Given the description of an element on the screen output the (x, y) to click on. 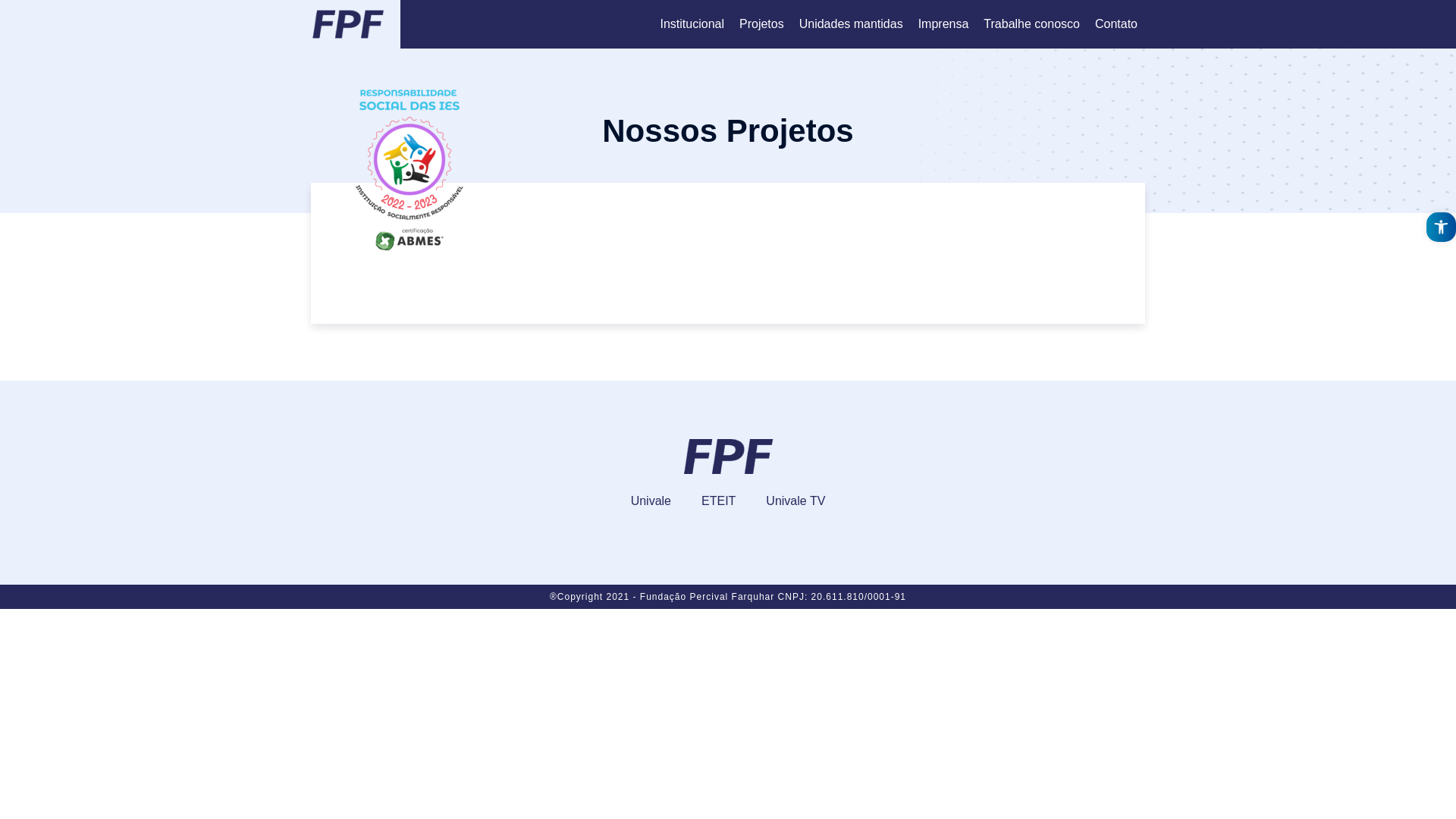
Unidades mantidas Element type: text (850, 24)
Univale Element type: text (650, 501)
Institucional Element type: text (691, 24)
ETEIT Element type: text (718, 501)
Imprensa Element type: text (943, 24)
Univale TV Element type: text (795, 501)
Trabalhe conosco Element type: text (1031, 24)
Contato Element type: text (1116, 24)
Projetos Element type: text (761, 24)
